Given the description of an element on the screen output the (x, y) to click on. 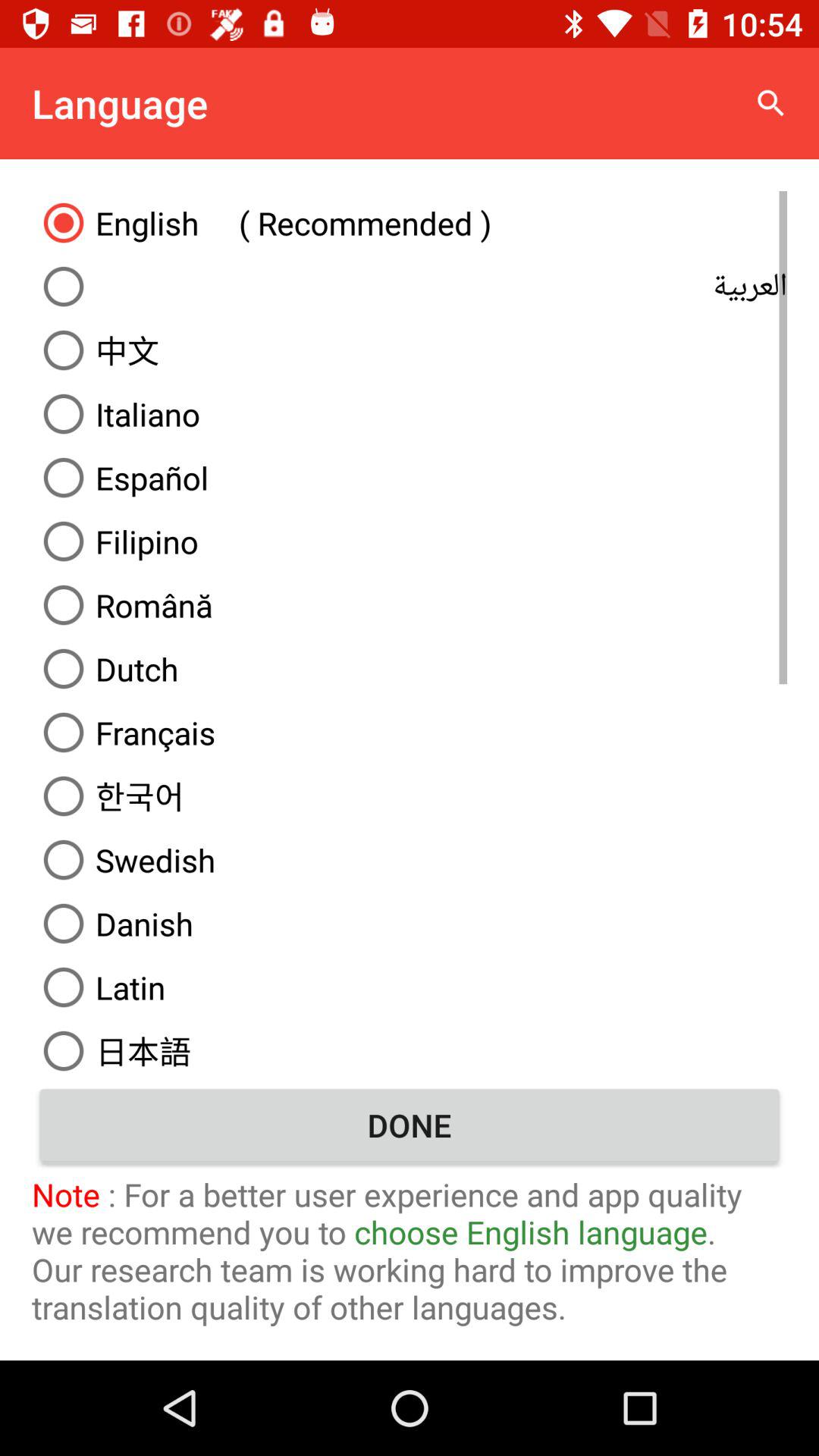
tap the latin icon (409, 987)
